Given the description of an element on the screen output the (x, y) to click on. 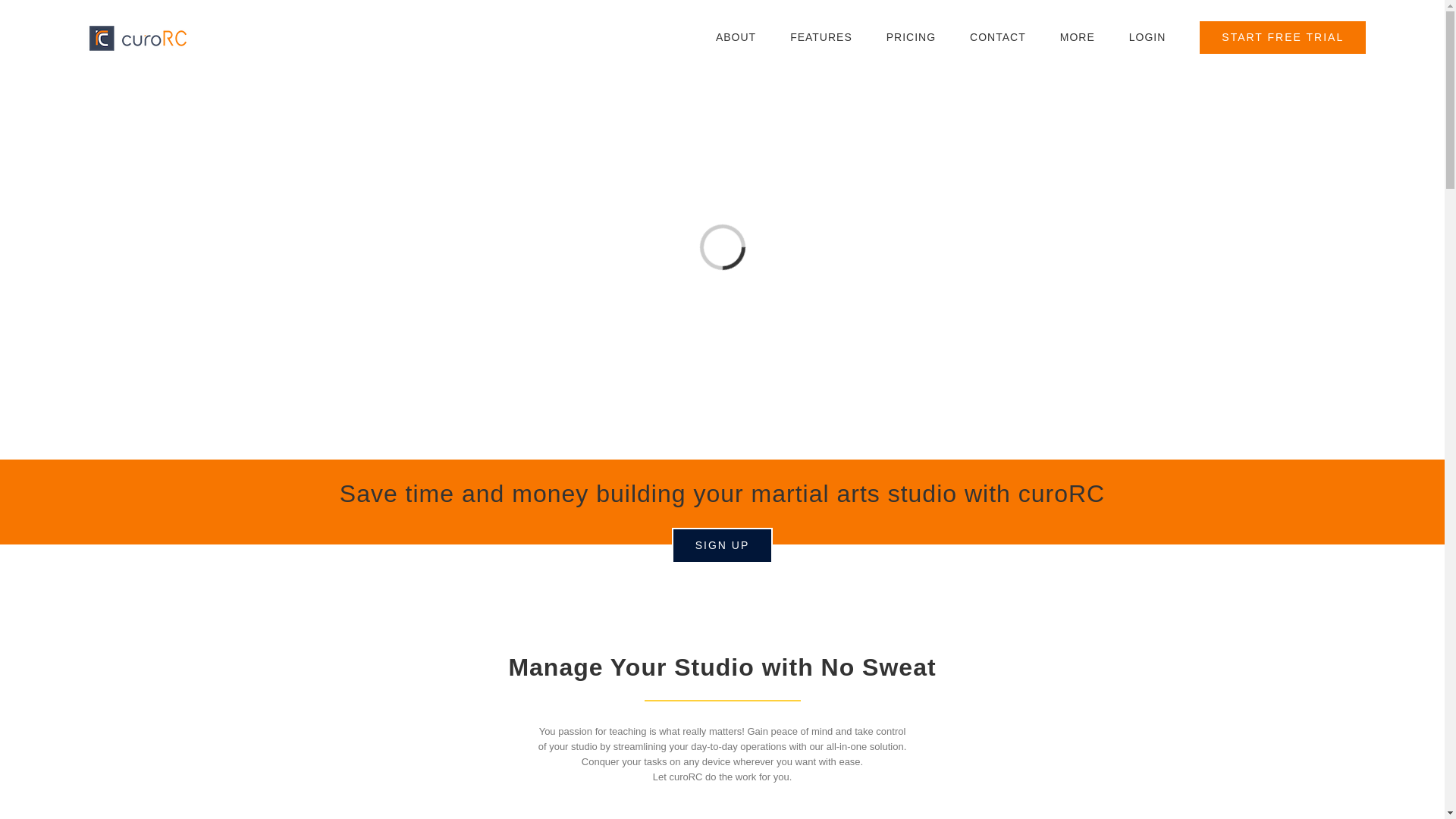
SIGN UP (722, 545)
START FREE TRIAL (1282, 37)
